Given the description of an element on the screen output the (x, y) to click on. 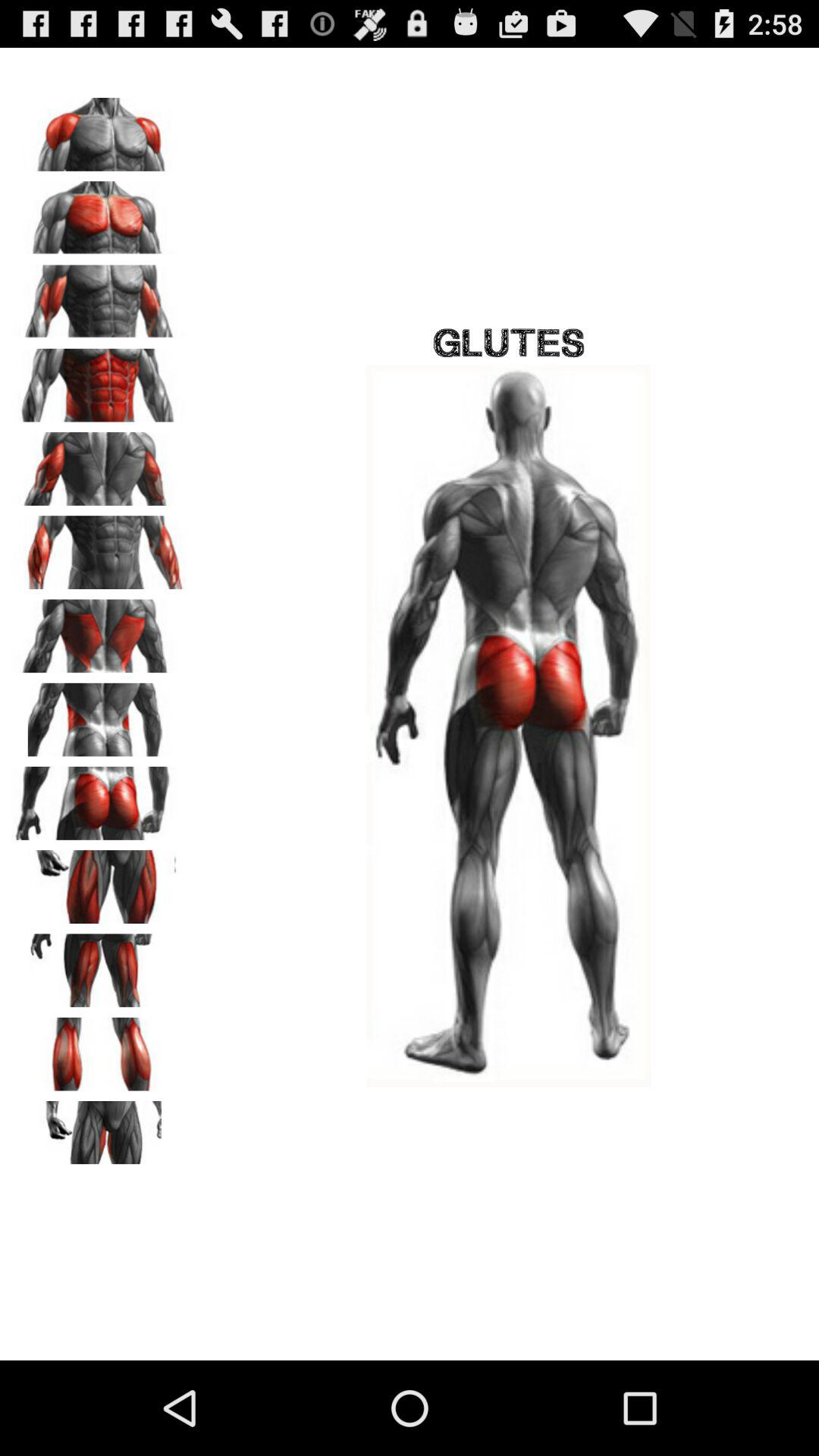
glutes selection (99, 798)
